Given the description of an element on the screen output the (x, y) to click on. 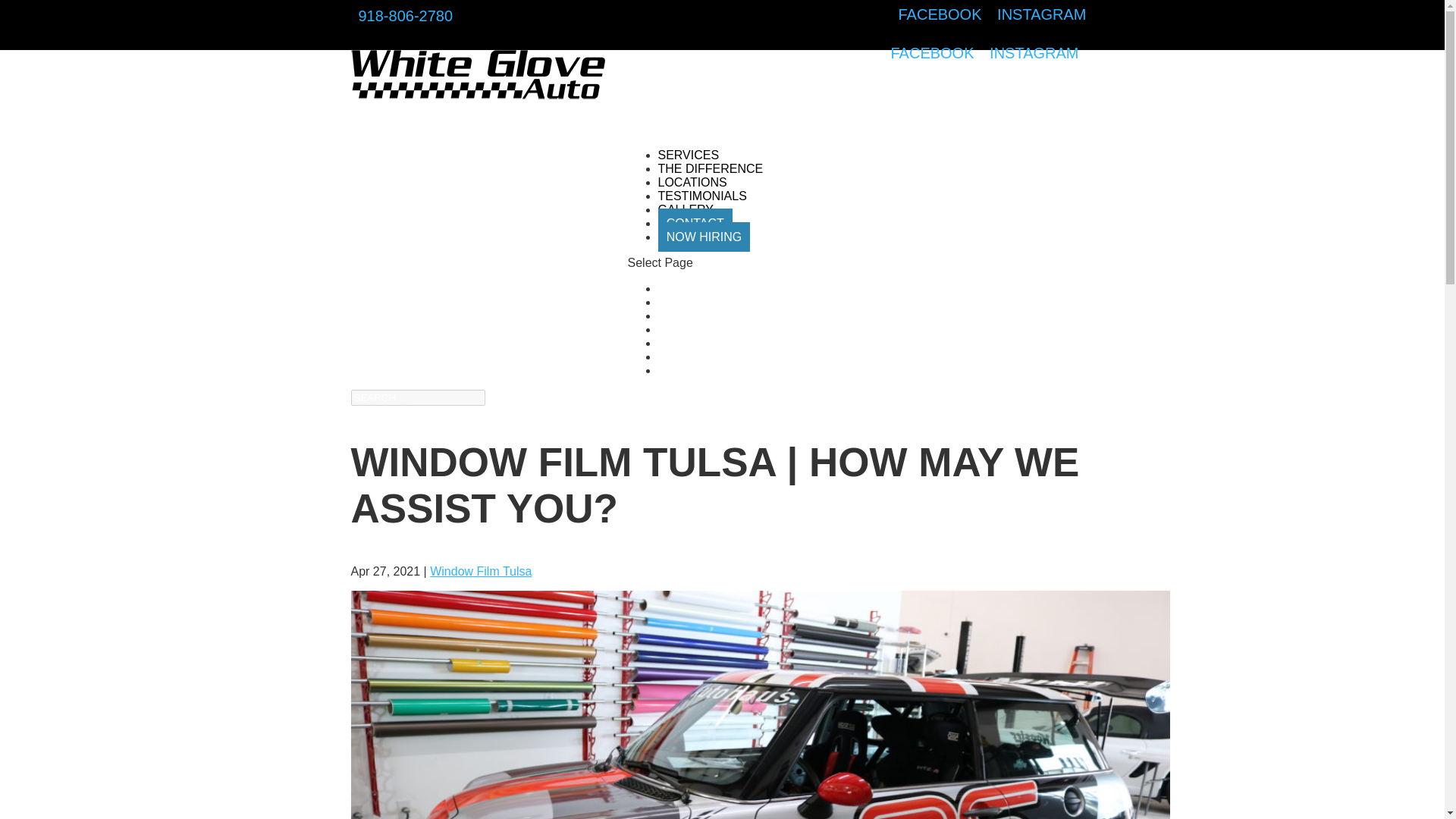
NOW HIRING (704, 236)
Gallery (677, 342)
The Difference (698, 301)
TESTIMONIALS (702, 212)
Services (681, 287)
Now Hiring (687, 369)
LOCATIONS (692, 199)
INSTAGRAM (1034, 53)
FACEBOOK (939, 13)
918-806-2780 (405, 16)
GALLERY (686, 226)
SERVICES (688, 171)
FACEBOOK (931, 53)
THE DIFFERENCE (710, 185)
Contact (679, 356)
